Given the description of an element on the screen output the (x, y) to click on. 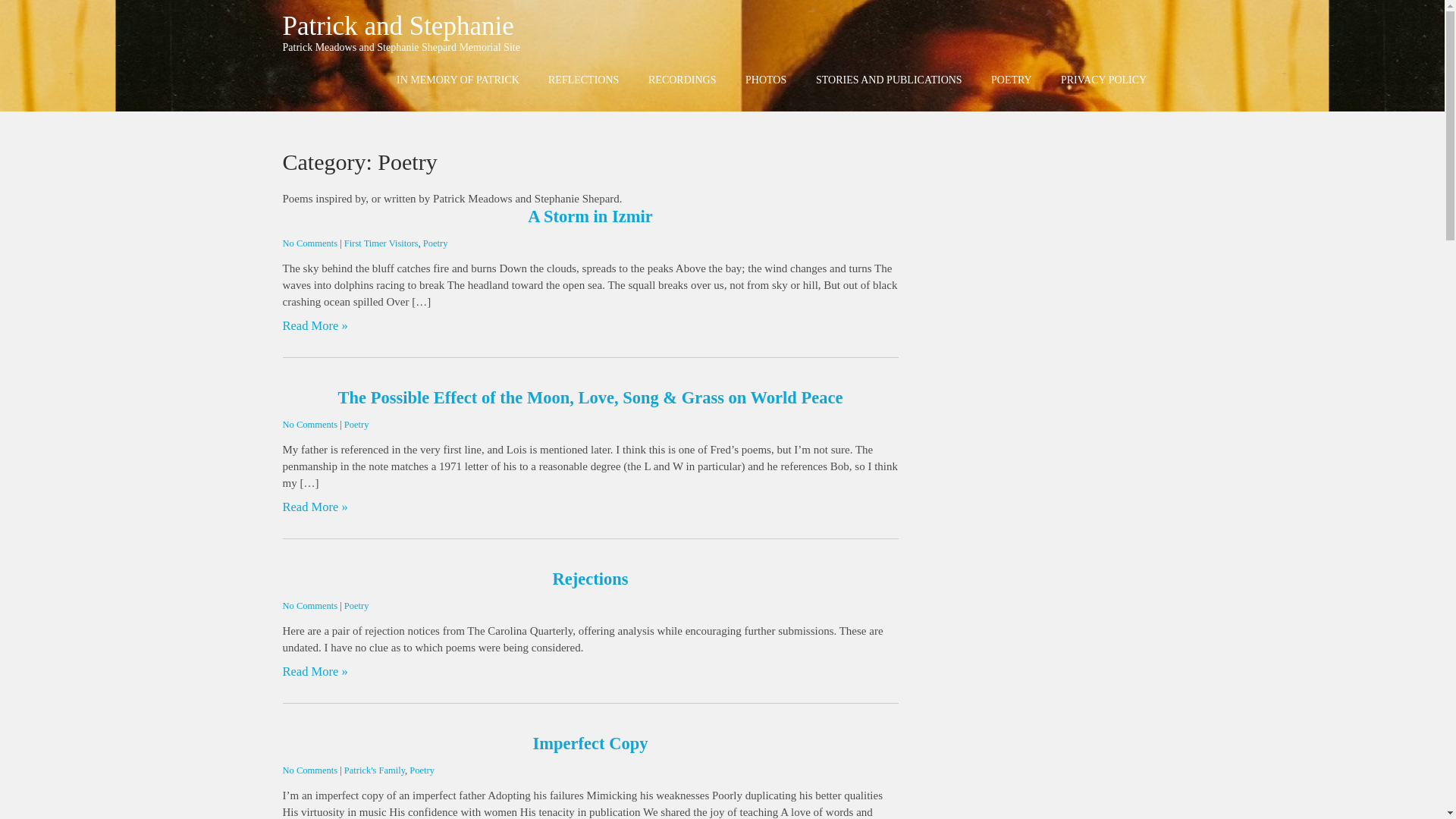
No Comments (309, 243)
RECORDINGS (681, 79)
No Comments (309, 769)
Rejections (590, 578)
No Comments (309, 605)
STORIES AND PUBLICATIONS (889, 79)
PHOTOS (765, 79)
A Storm in Izmir (589, 216)
POETRY (1011, 79)
Patrick and Stephanie (397, 25)
